Given the description of an element on the screen output the (x, y) to click on. 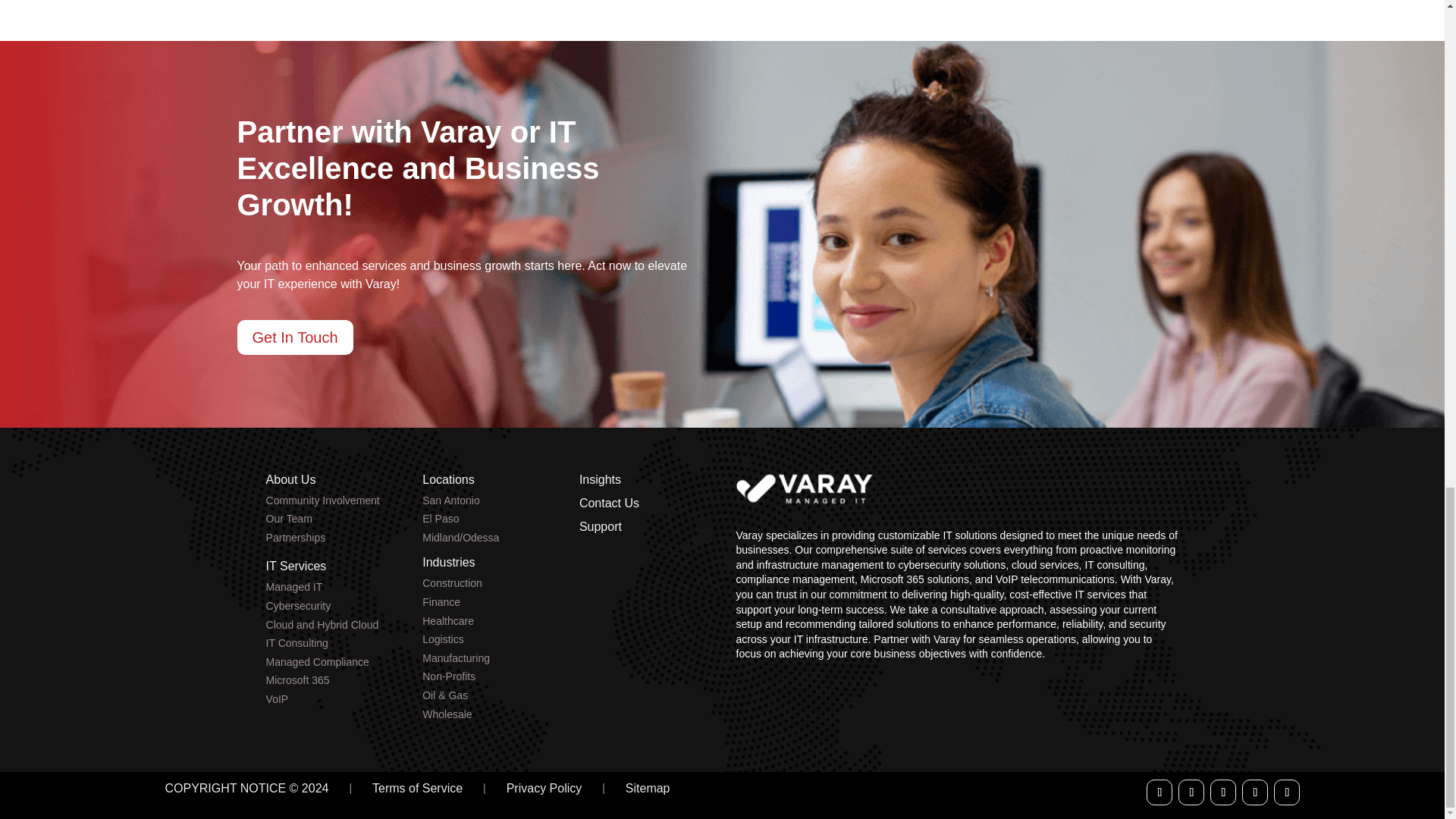
Follow on X (1190, 792)
Follow on Facebook (1159, 792)
Follow on Instagram (1287, 792)
Follow on Youtube (1254, 792)
Follow on LinkedIn (1222, 792)
